Given the description of an element on the screen output the (x, y) to click on. 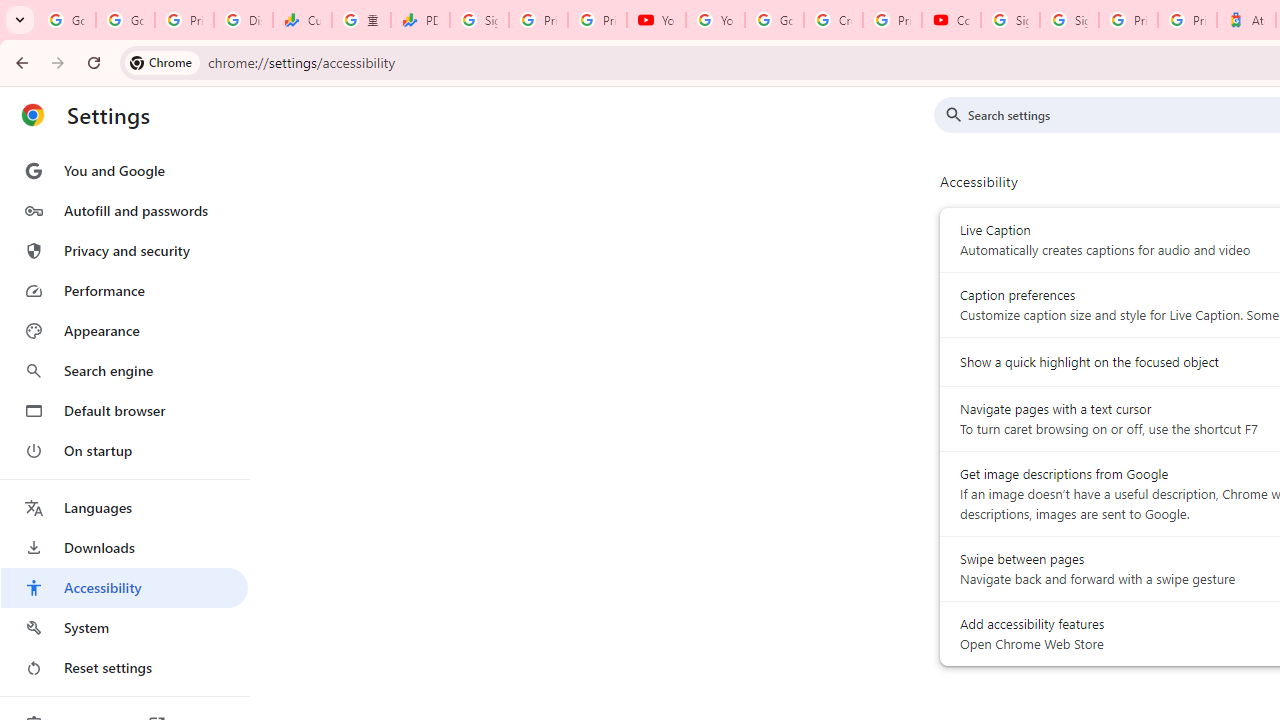
YouTube (715, 20)
Sign in - Google Accounts (1010, 20)
Sign in - Google Accounts (1069, 20)
Search engine (124, 370)
Privacy Checkup (597, 20)
Create your Google Account (832, 20)
YouTube (656, 20)
On startup (124, 450)
Currencies - Google Finance (301, 20)
Appearance (124, 331)
Google Workspace Admin Community (66, 20)
Sign in - Google Accounts (479, 20)
